Given the description of an element on the screen output the (x, y) to click on. 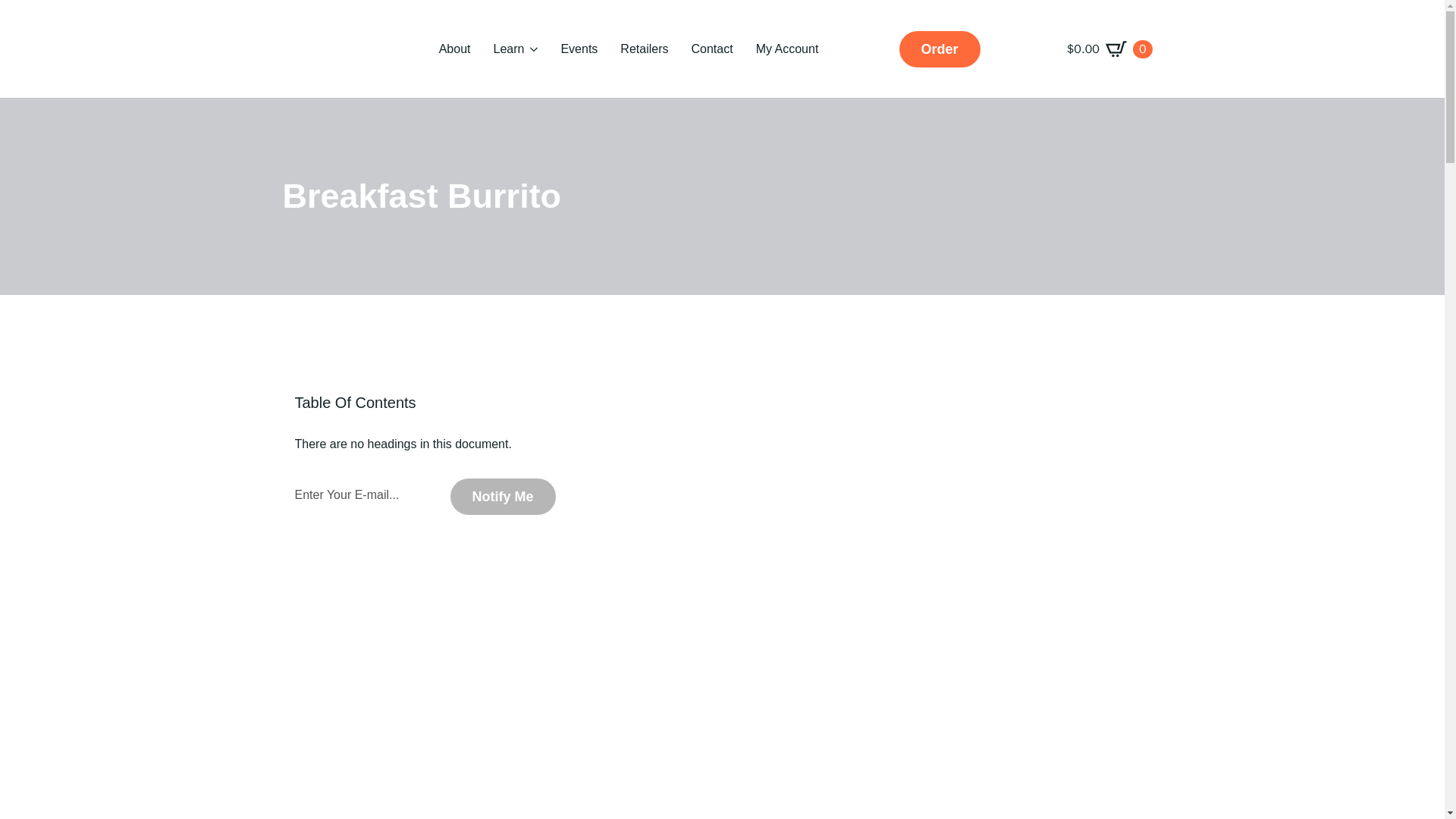
Notify Me (502, 496)
About (454, 49)
My Account (787, 49)
Retailers (643, 49)
Learn (506, 49)
Contact (711, 49)
Order (939, 49)
Events (578, 49)
